Given the description of an element on the screen output the (x, y) to click on. 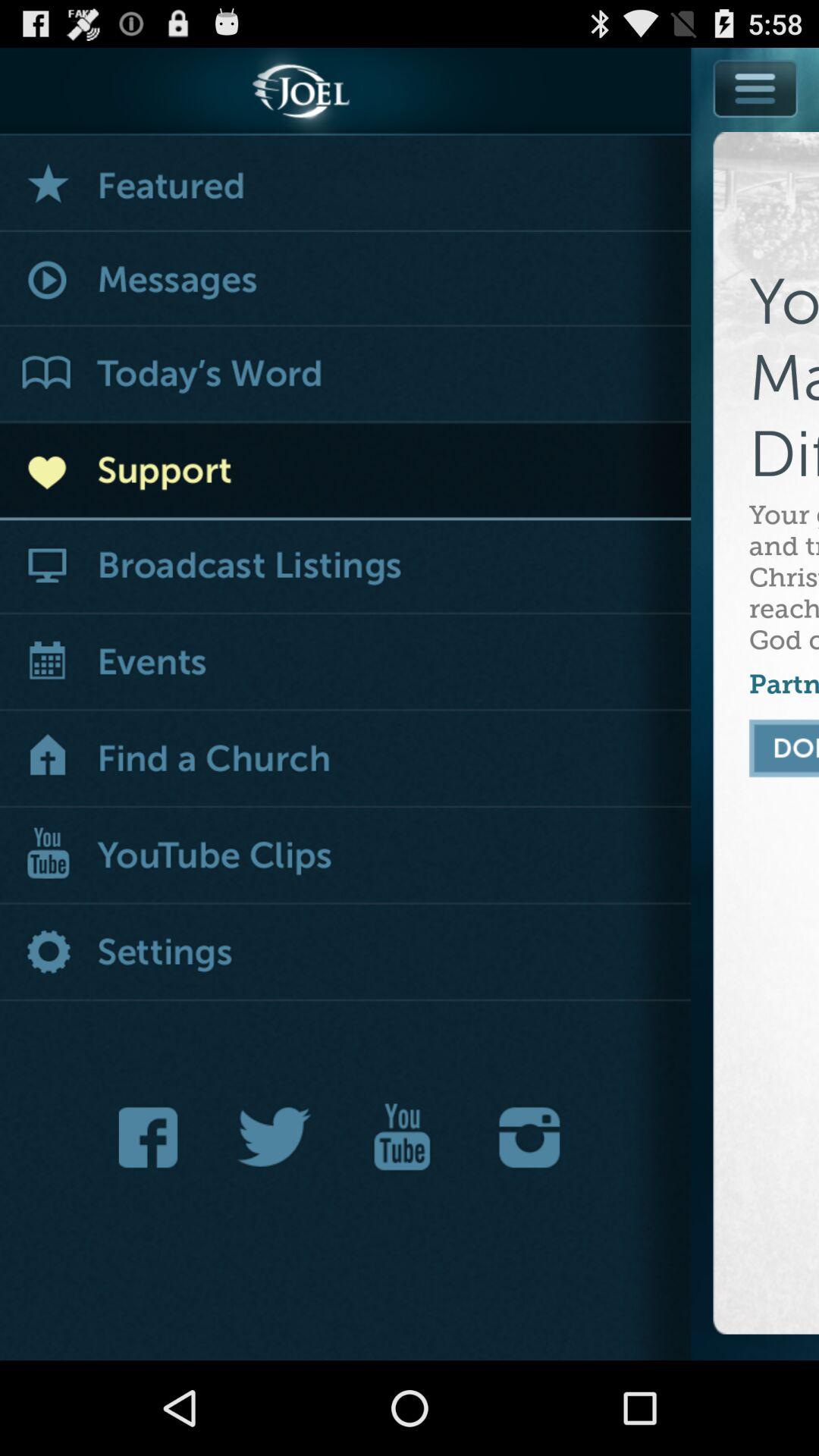
today 's word (345, 375)
